Given the description of an element on the screen output the (x, y) to click on. 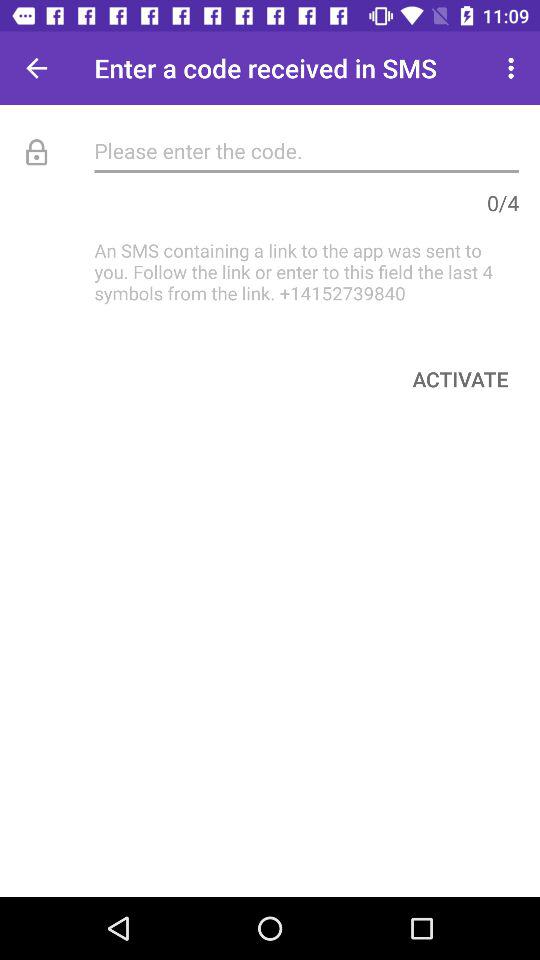
enter the code (306, 150)
